Given the description of an element on the screen output the (x, y) to click on. 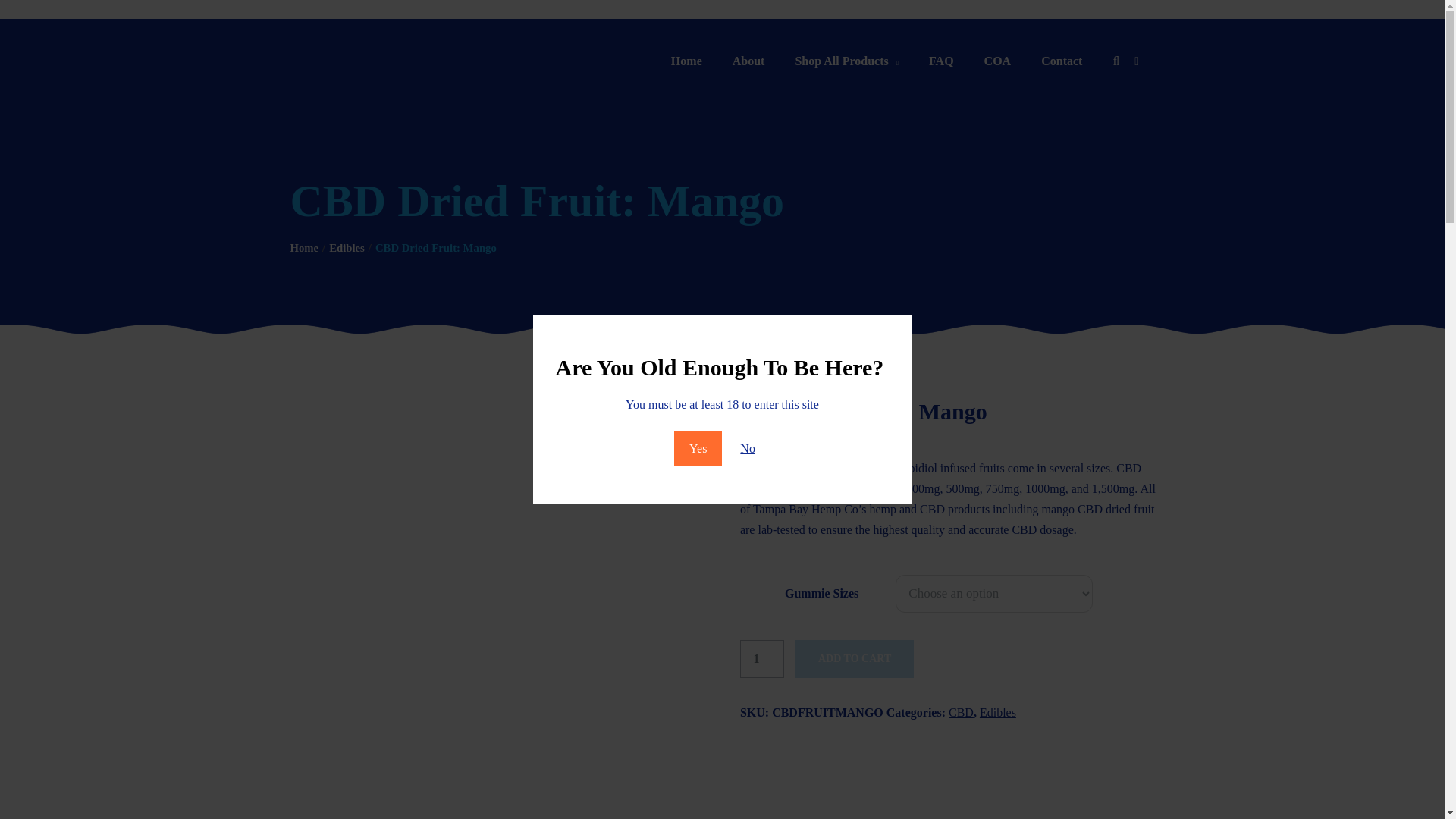
Contact (1061, 60)
1 (761, 658)
Edibles (997, 711)
CBD (961, 711)
Home (686, 60)
About (748, 60)
FAQ (941, 60)
Shop All Products (846, 60)
Home (303, 247)
About Us (748, 60)
